Given the description of an element on the screen output the (x, y) to click on. 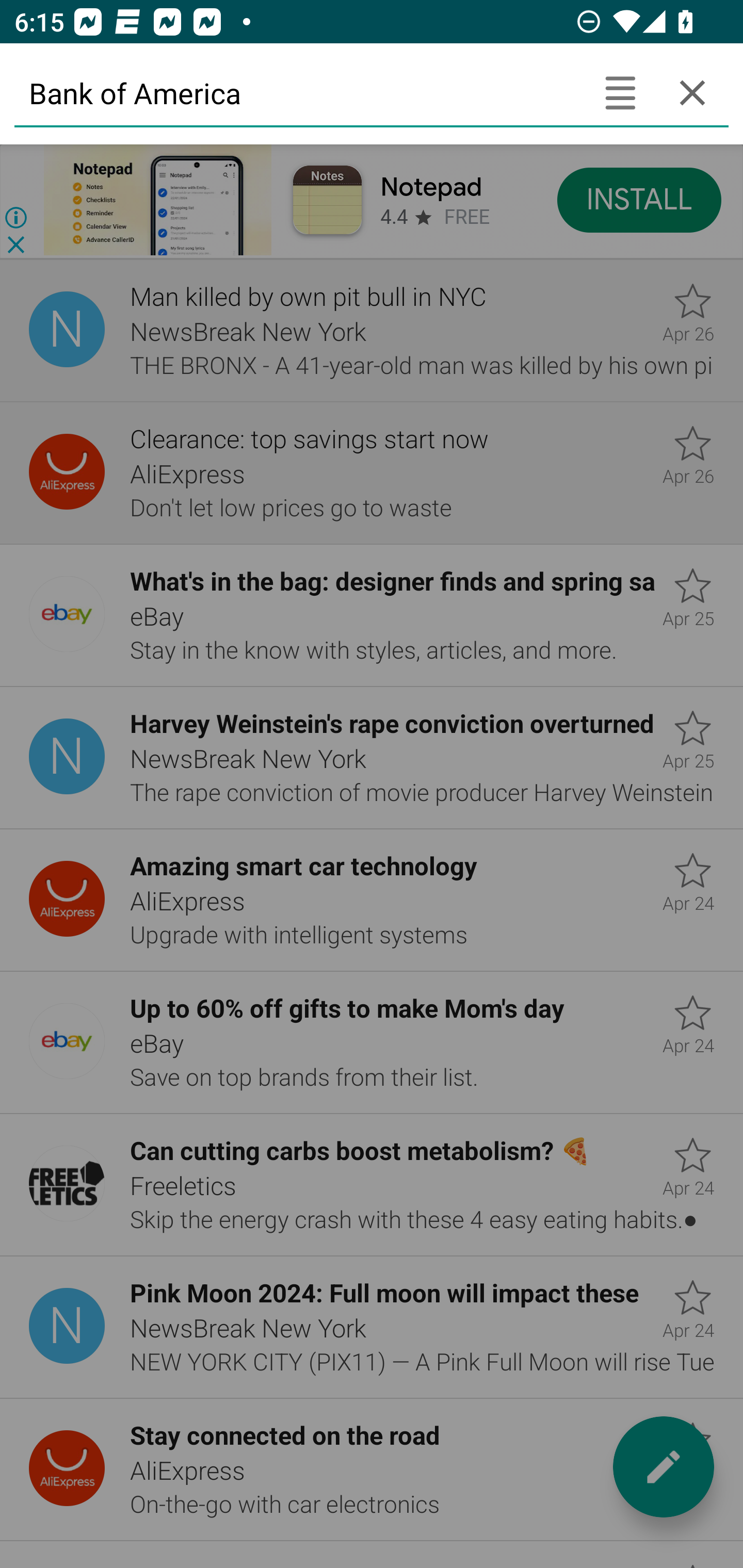
Bank of America (298, 92)
Search headers only (619, 92)
Cancel (692, 92)
